Given the description of an element on the screen output the (x, y) to click on. 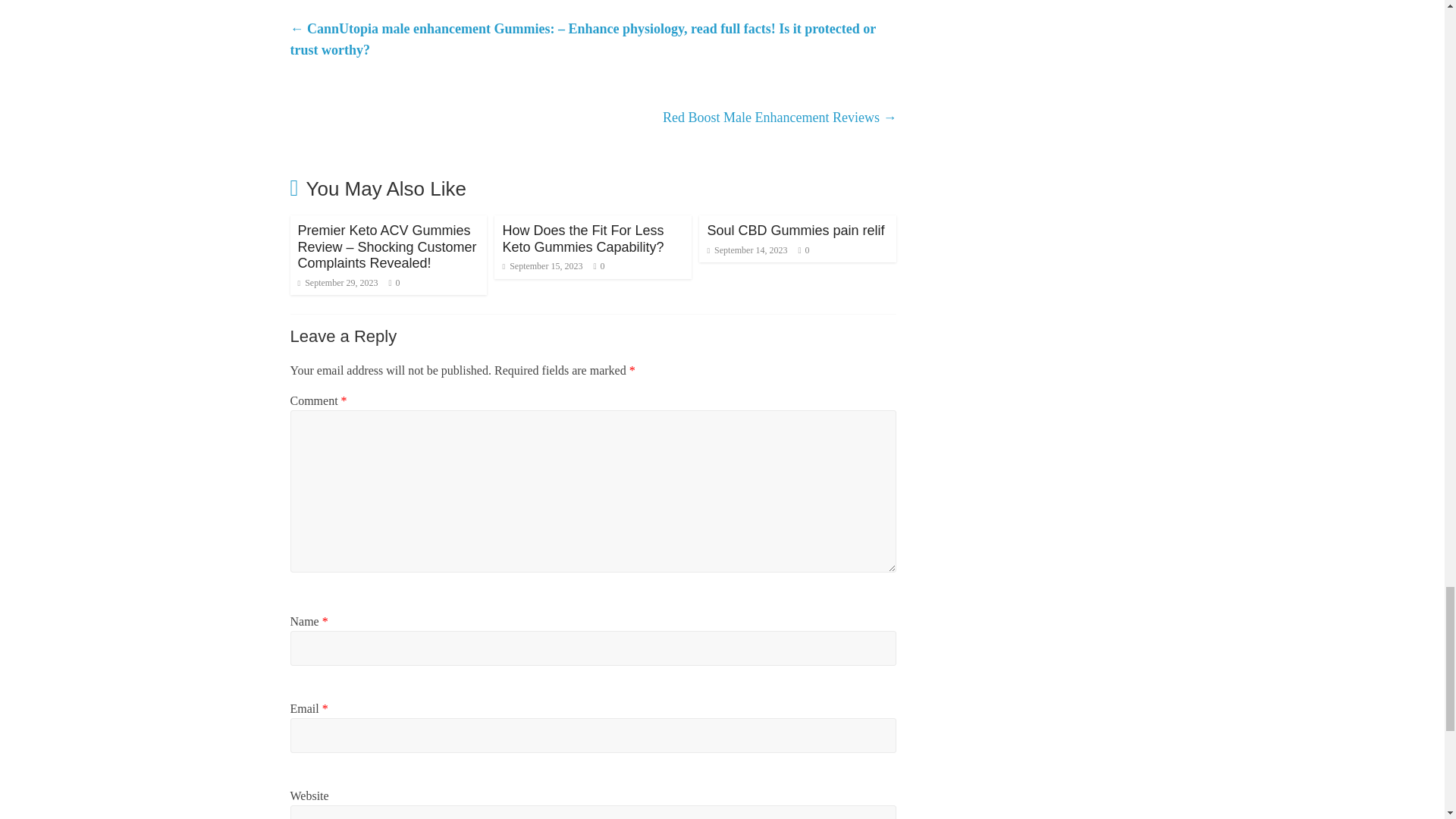
September 15, 2023 (542, 266)
September 29, 2023 (337, 282)
7:29 am (337, 282)
Soul CBD Gummies pain relif (794, 230)
How Does the Fit For Less Keto Gummies Capability? (582, 238)
